Given the description of an element on the screen output the (x, y) to click on. 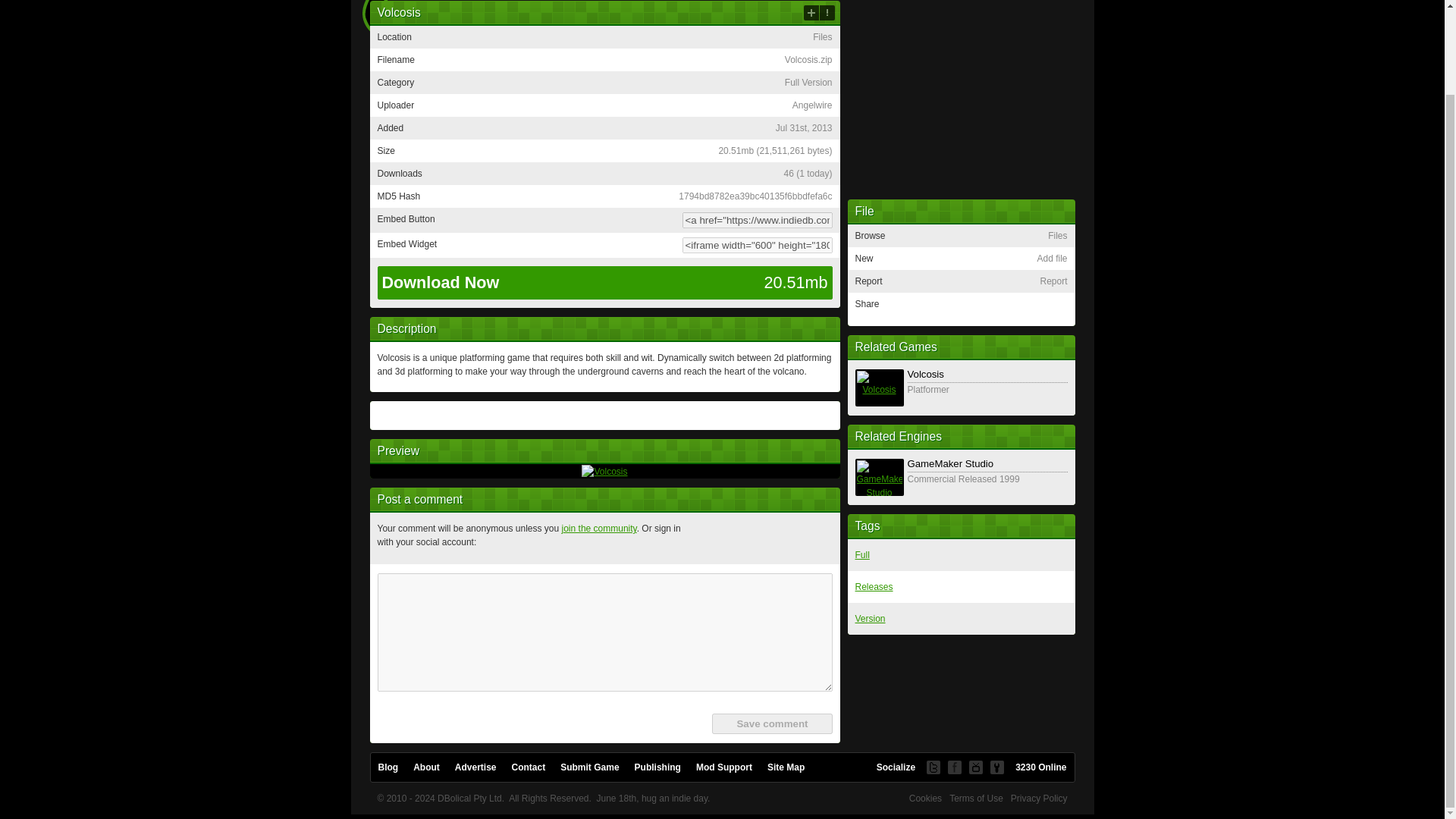
Add file (810, 12)
Report (826, 12)
Save comment (771, 723)
Volcosis Statistics (807, 173)
Click to connect via Steam (816, 538)
Share the file using this HTML (604, 220)
Embed the file using this HTML (604, 244)
Volcosis (603, 470)
Your download... (604, 282)
